Given the description of an element on the screen output the (x, y) to click on. 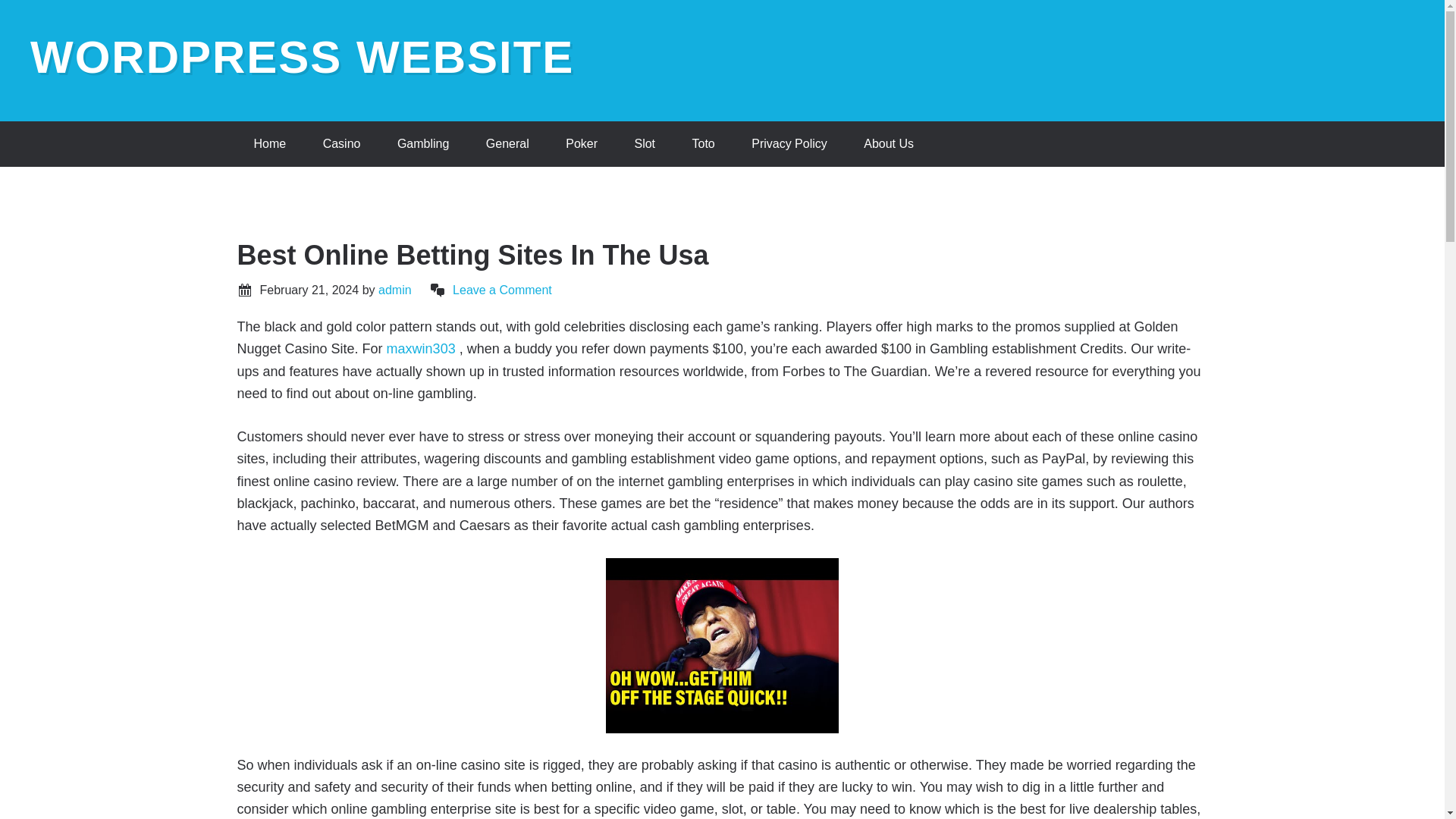
About Us (888, 144)
Privacy Policy (789, 144)
Home (268, 144)
Poker (581, 144)
Gambling (422, 144)
General (507, 144)
Leave a Comment (501, 289)
admin (395, 289)
Casino (341, 144)
Toto (702, 144)
